Given the description of an element on the screen output the (x, y) to click on. 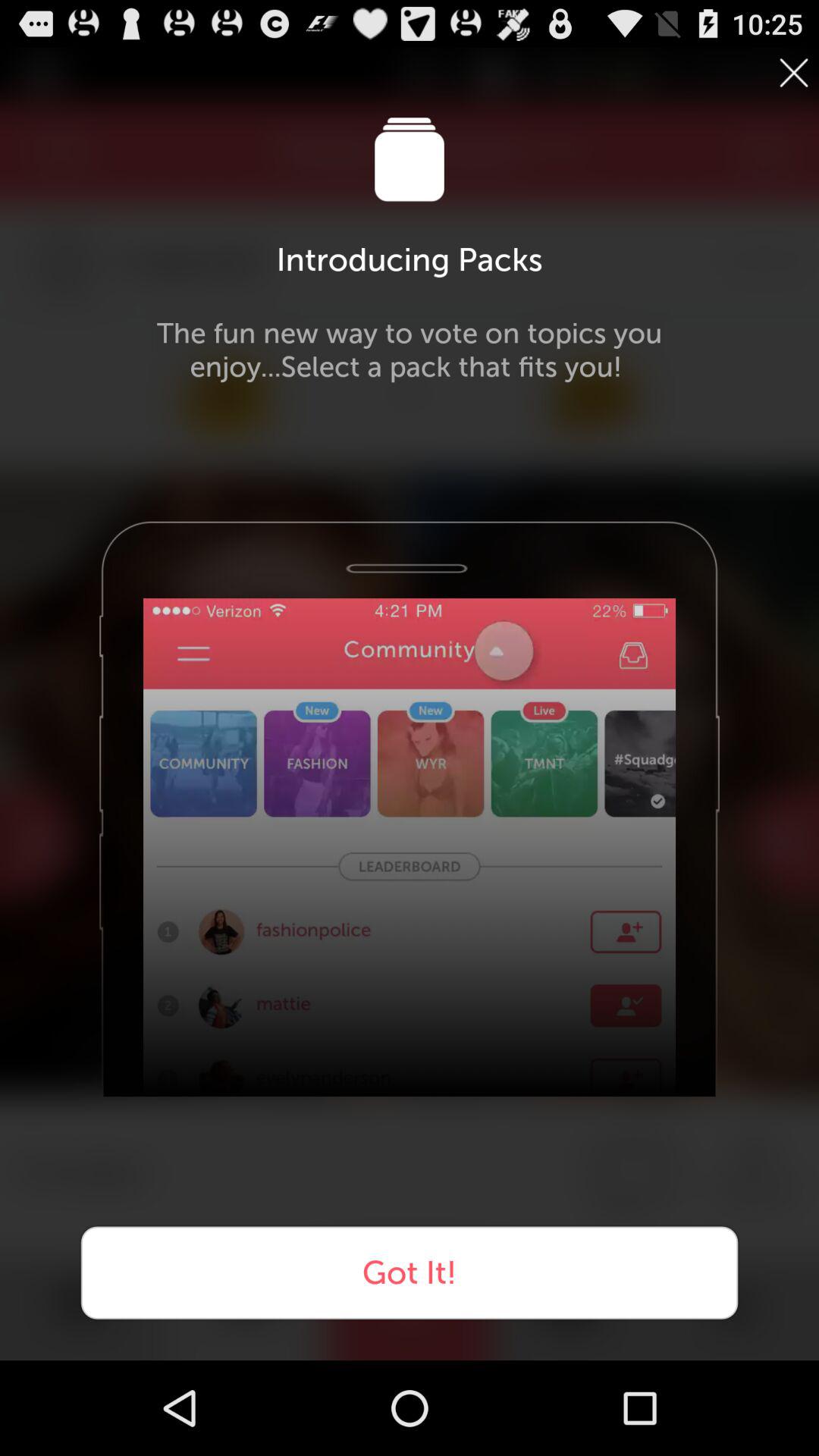
press the icon at the bottom (409, 1272)
